Given the description of an element on the screen output the (x, y) to click on. 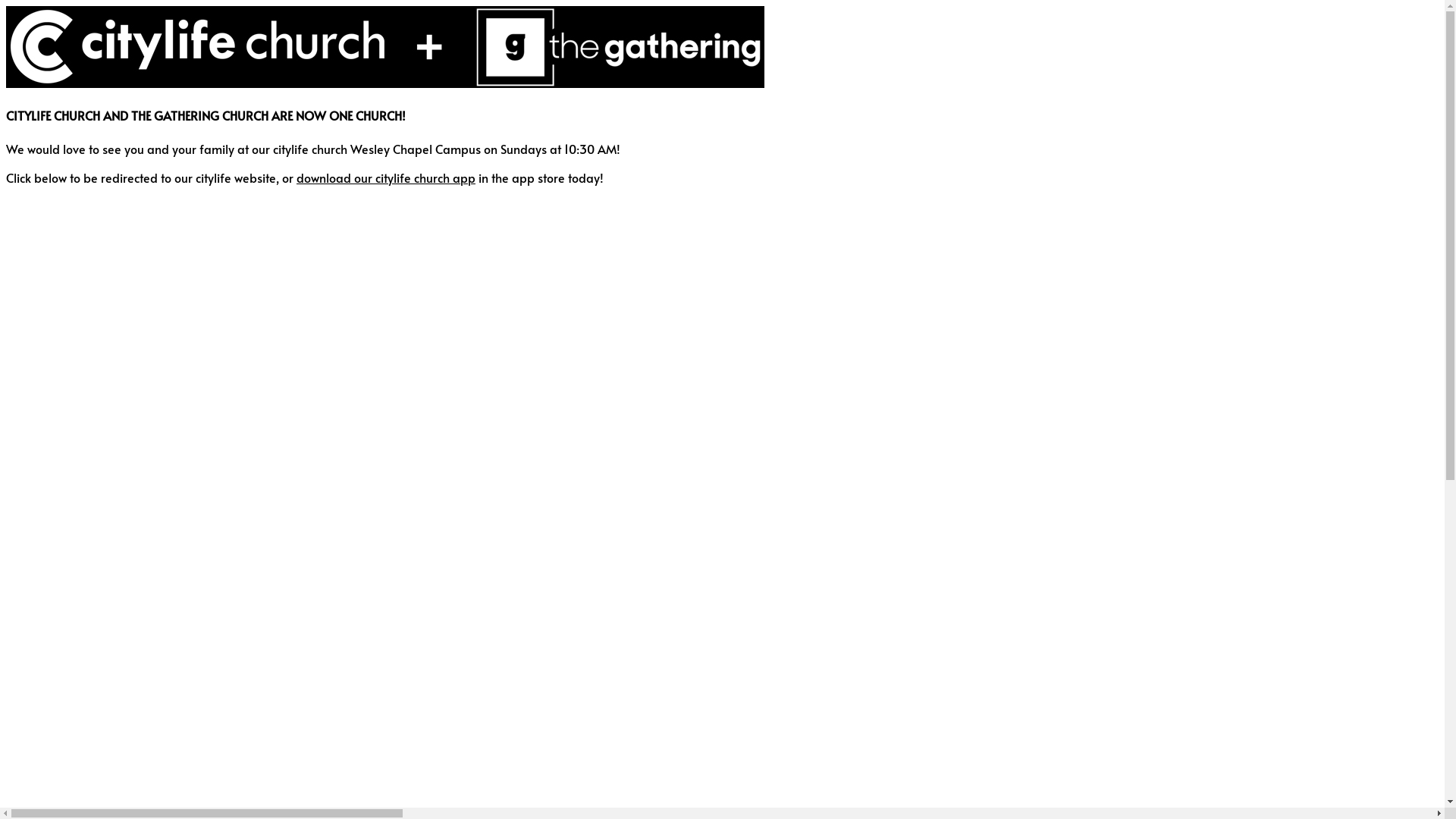
download our citylife church app Element type: text (385, 177)
